Given the description of an element on the screen output the (x, y) to click on. 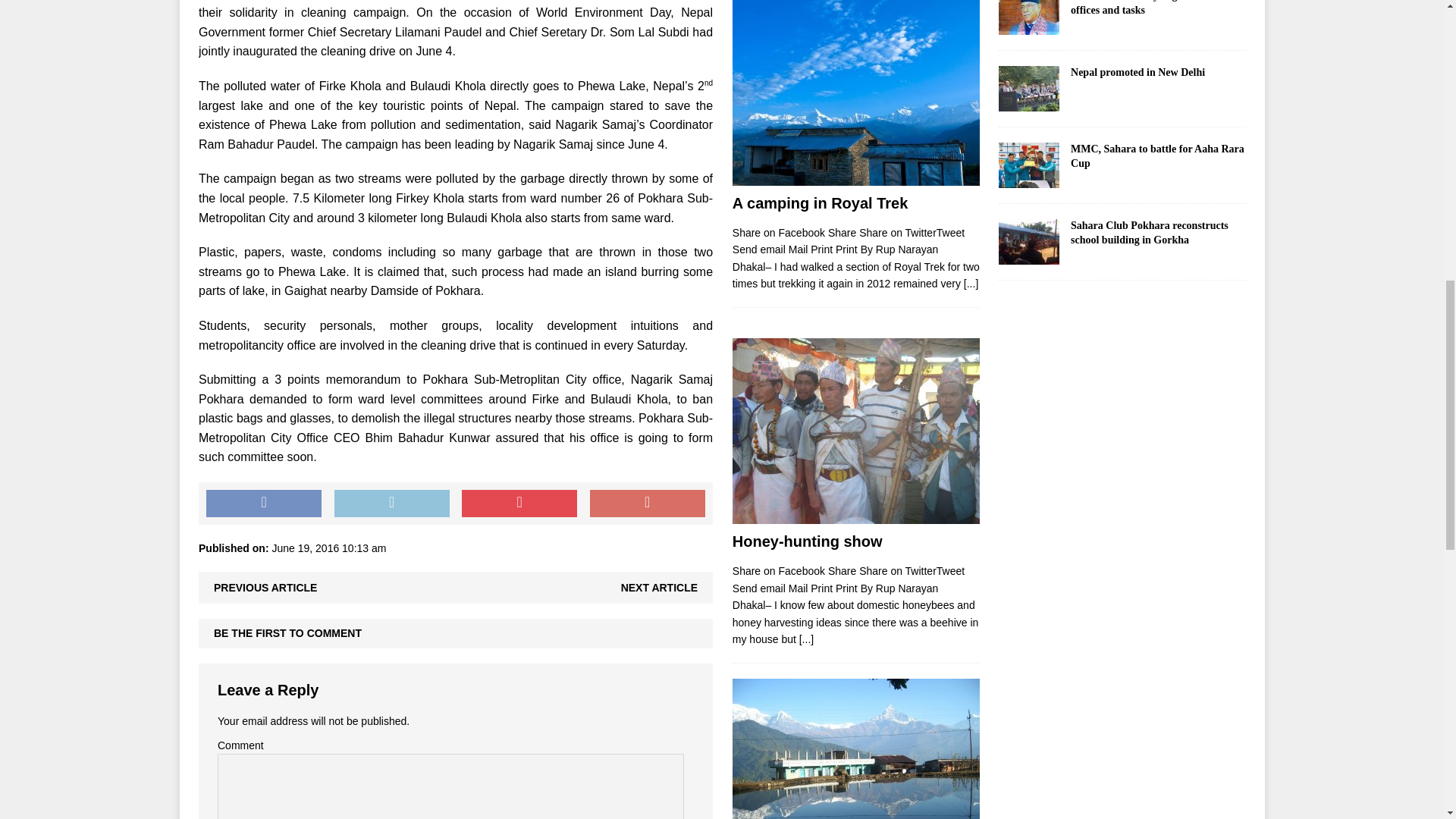
Share on Facebook (263, 502)
